Given the description of an element on the screen output the (x, y) to click on. 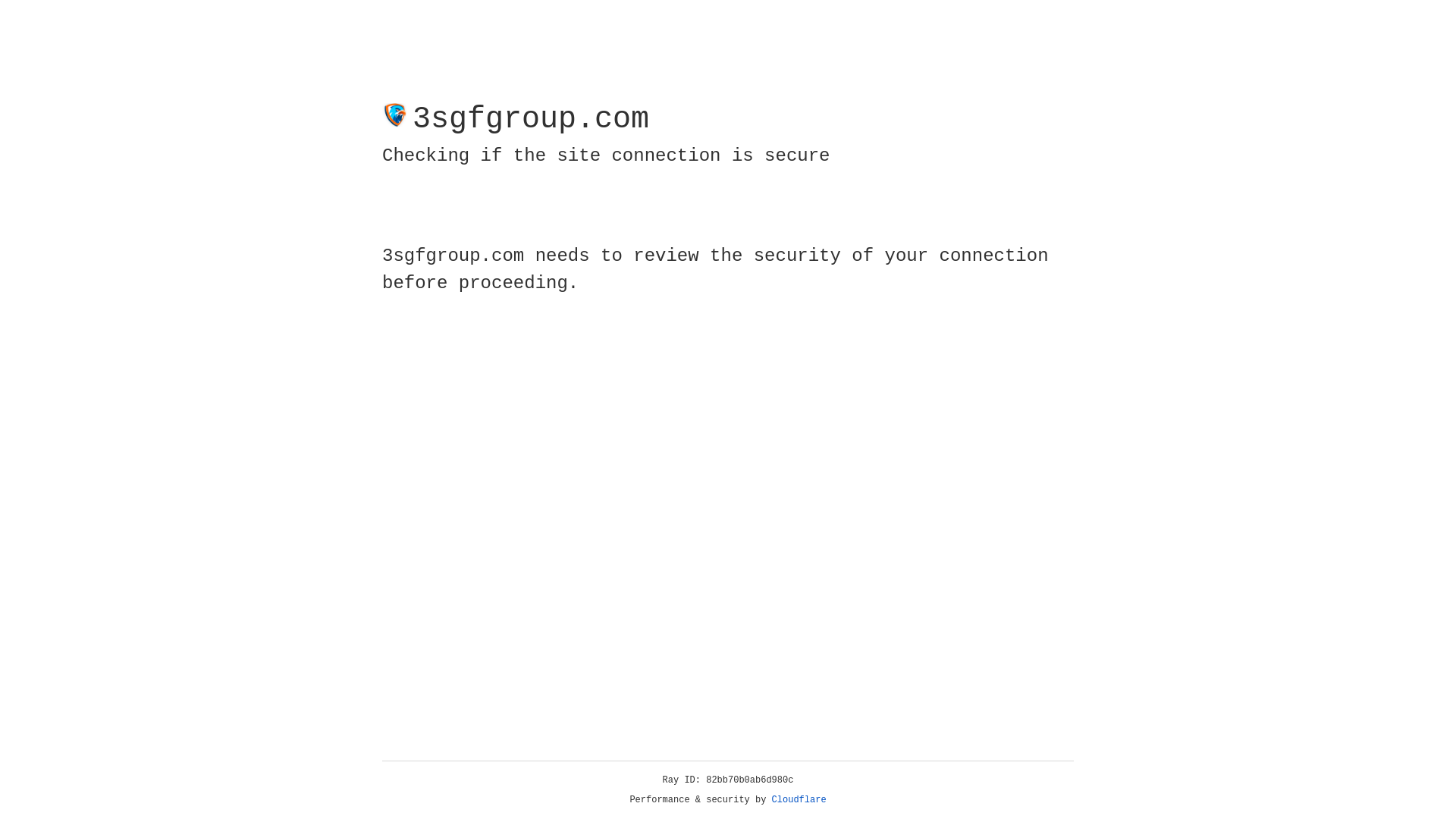
Cloudflare Element type: text (798, 799)
